Given the description of an element on the screen output the (x, y) to click on. 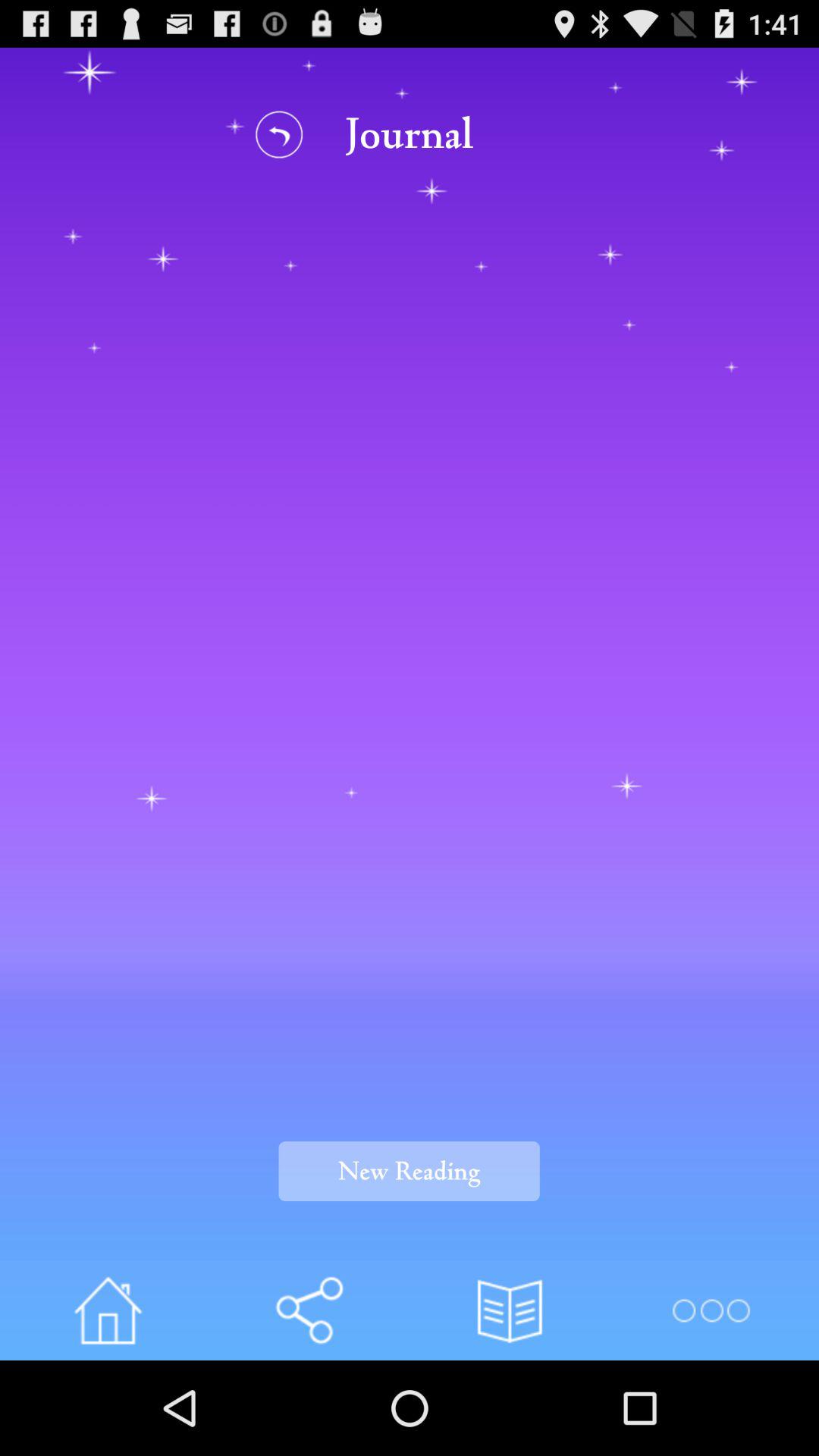
go home (107, 1310)
